Given the description of an element on the screen output the (x, y) to click on. 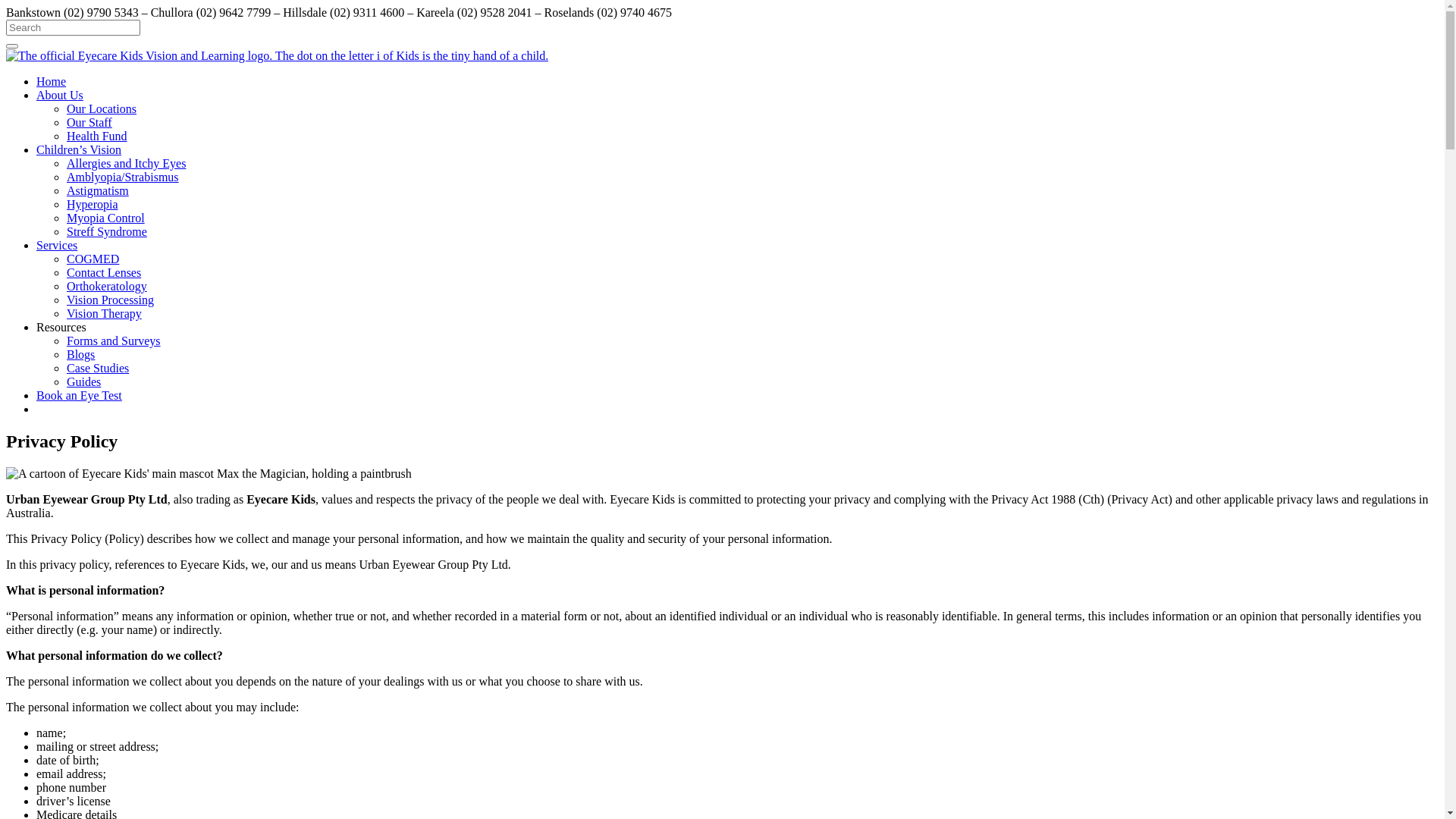
Our Locations Element type: text (101, 158)
Guides Element type: text (83, 431)
Case Studies Element type: text (97, 417)
Our Staff Element type: text (89, 172)
Vision Processing Element type: text (109, 349)
Forms and Surveys Element type: text (113, 390)
Allergies and Itchy Eyes Element type: text (125, 213)
Myopia Control Element type: text (105, 267)
Hyperopia Element type: text (92, 253)
Astigmatism Element type: text (97, 240)
COGMED Element type: text (92, 308)
Vision Therapy Element type: text (103, 363)
About Us Element type: text (59, 144)
Contact Lenses Element type: text (103, 322)
Blogs Element type: text (80, 404)
Services Element type: text (56, 294)
Health Fund Element type: text (96, 185)
Orthokeratology Element type: text (106, 335)
Home Element type: text (50, 131)
Resources Element type: text (61, 376)
Streff Syndrome Element type: text (106, 281)
Book an Eye Test Element type: text (79, 445)
Amblyopia/Strabismus Element type: text (122, 226)
